Given the description of an element on the screen output the (x, y) to click on. 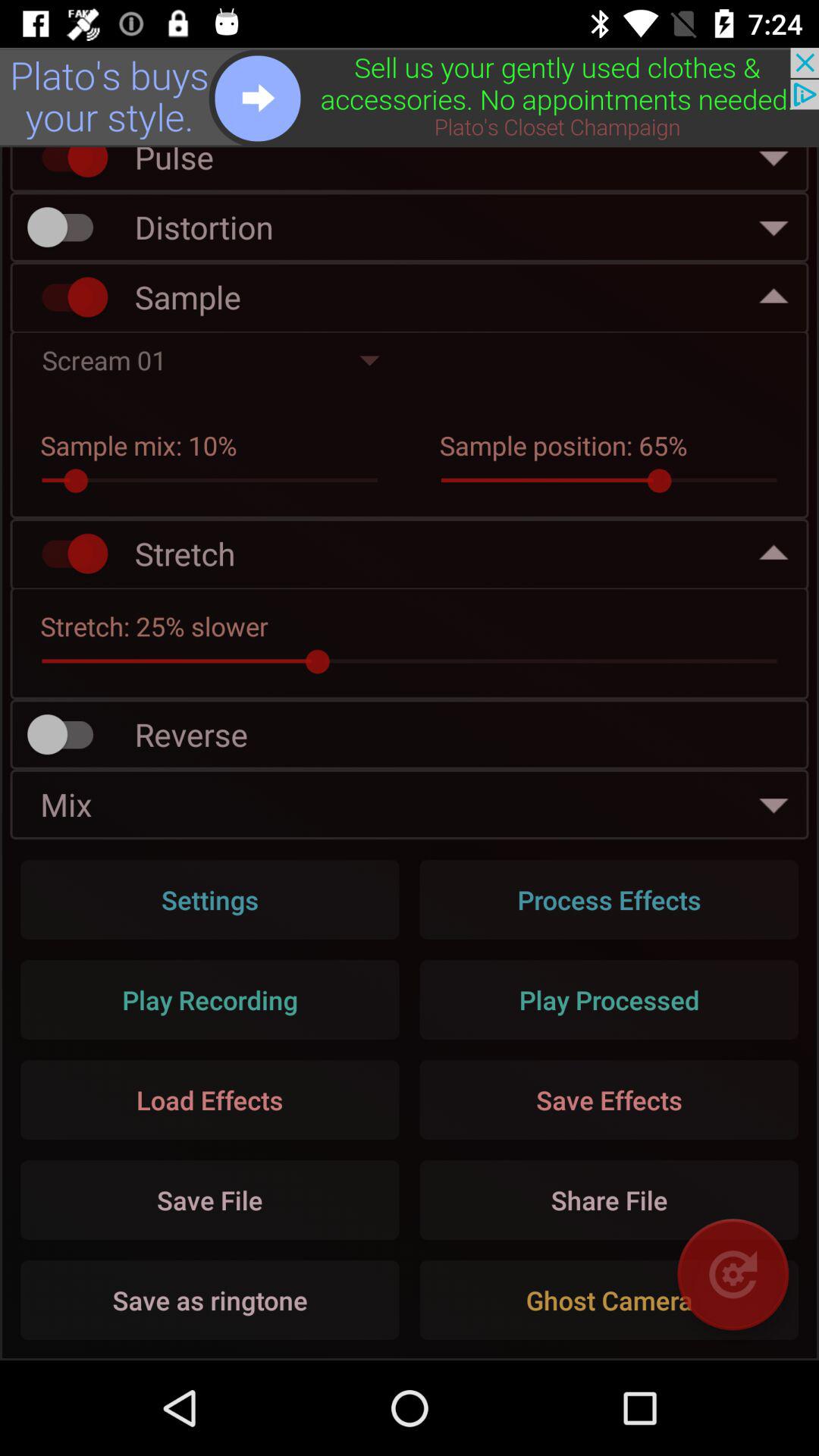
menu (409, 97)
